Given the description of an element on the screen output the (x, y) to click on. 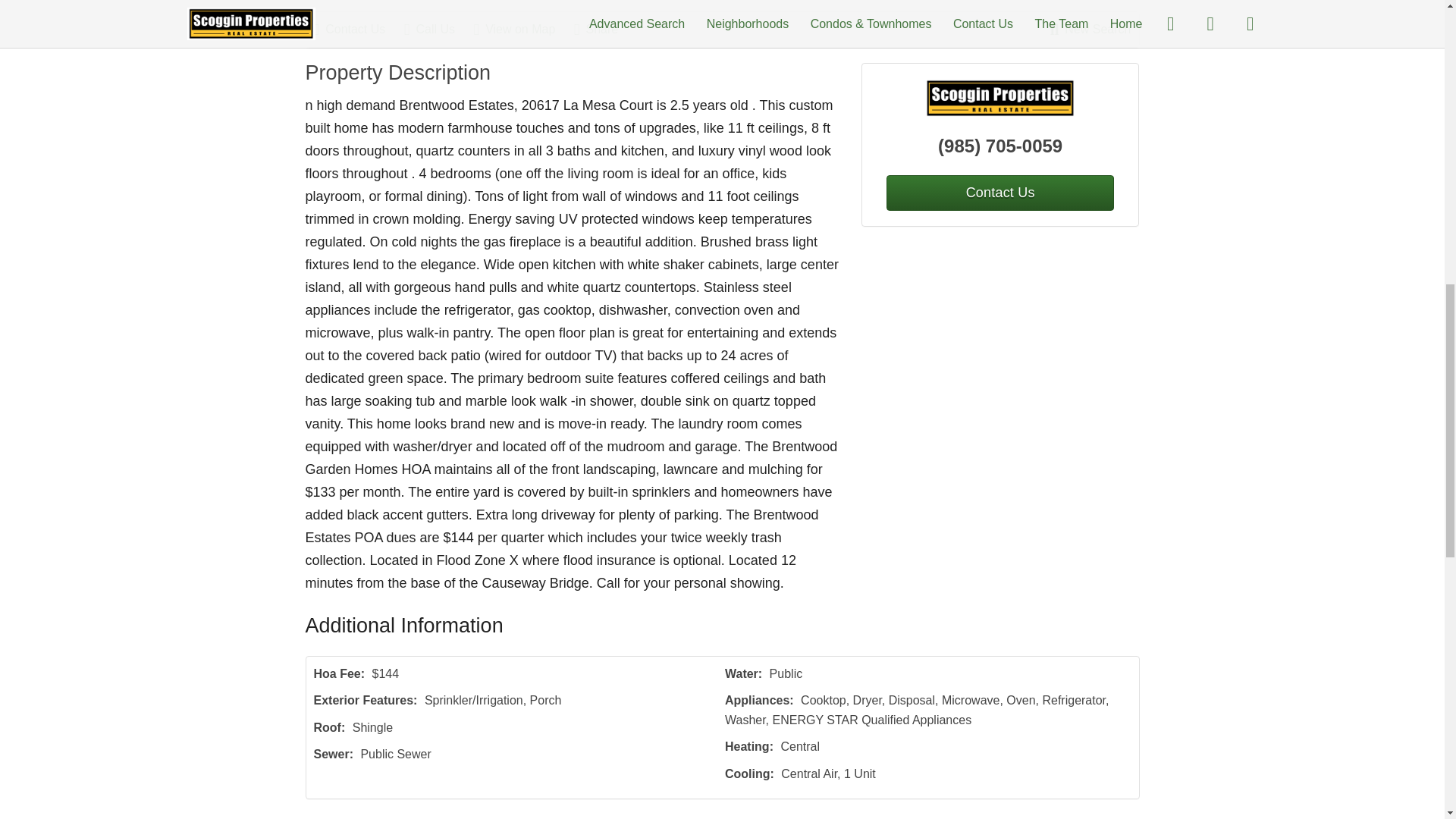
New Search (1090, 29)
Contact Us (999, 192)
View on Map (521, 29)
Share (603, 29)
Contact Us (357, 29)
Call Us (437, 29)
